Given the description of an element on the screen output the (x, y) to click on. 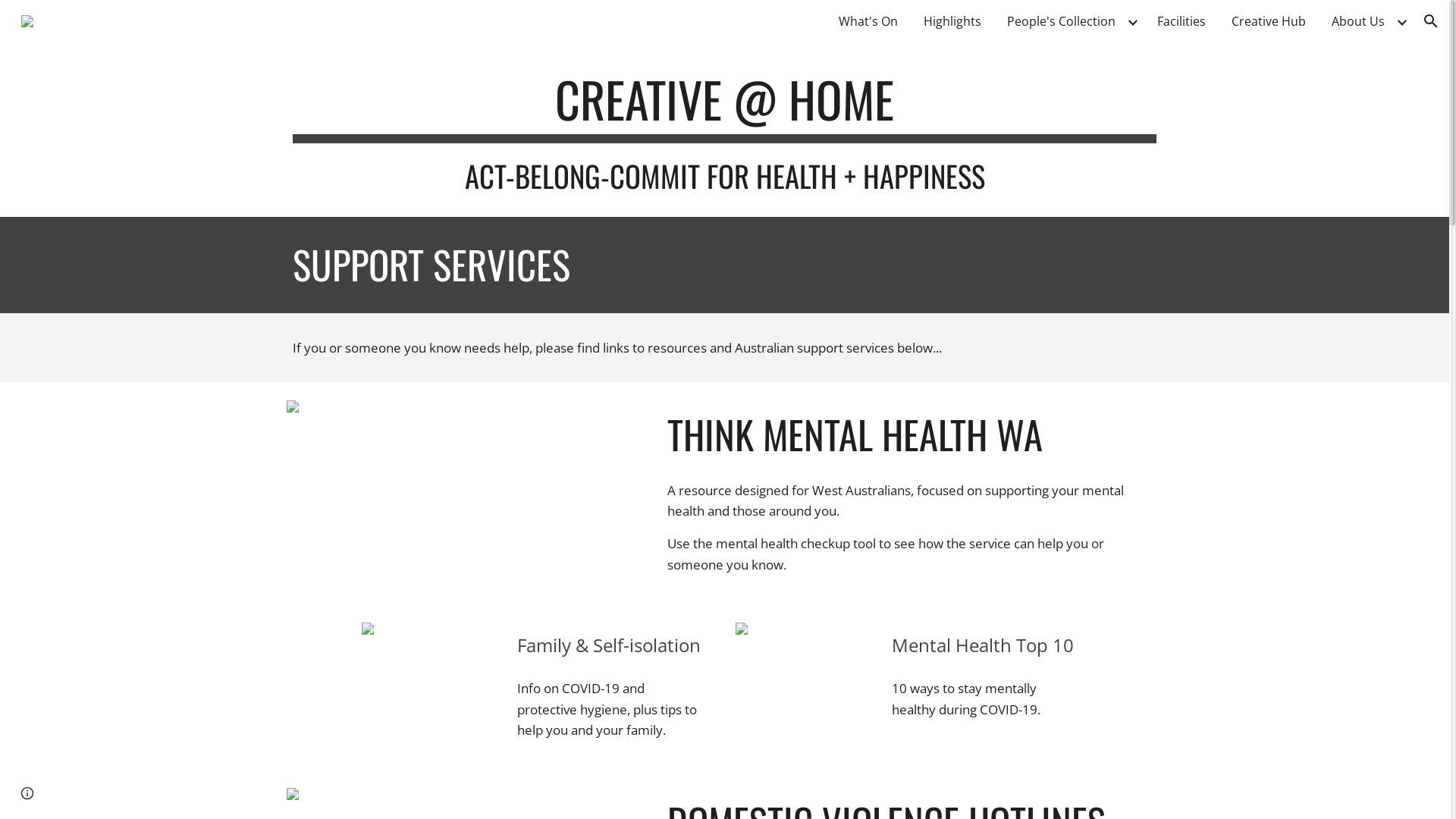
About Us Element type: text (1358, 20)
Highlights Element type: text (952, 20)
Facilities Element type: text (1181, 20)
Creative Hub Element type: text (1268, 20)
People's Collection Element type: text (1061, 20)
Expand/Collapse Element type: hover (1132, 20)
What's On Element type: text (868, 20)
Expand/Collapse Element type: hover (1401, 20)
